Given the description of an element on the screen output the (x, y) to click on. 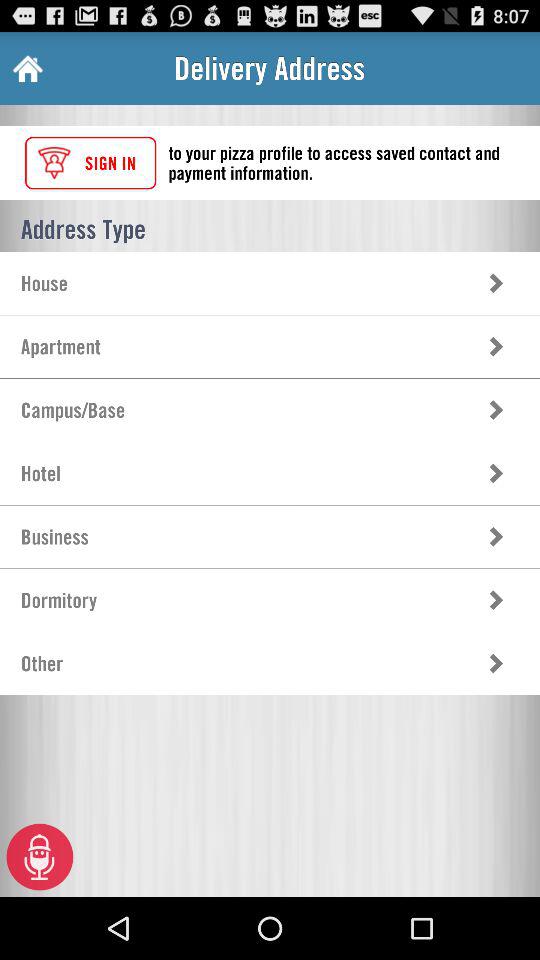
open the icon to the left of to your pizza (90, 162)
